Given the description of an element on the screen output the (x, y) to click on. 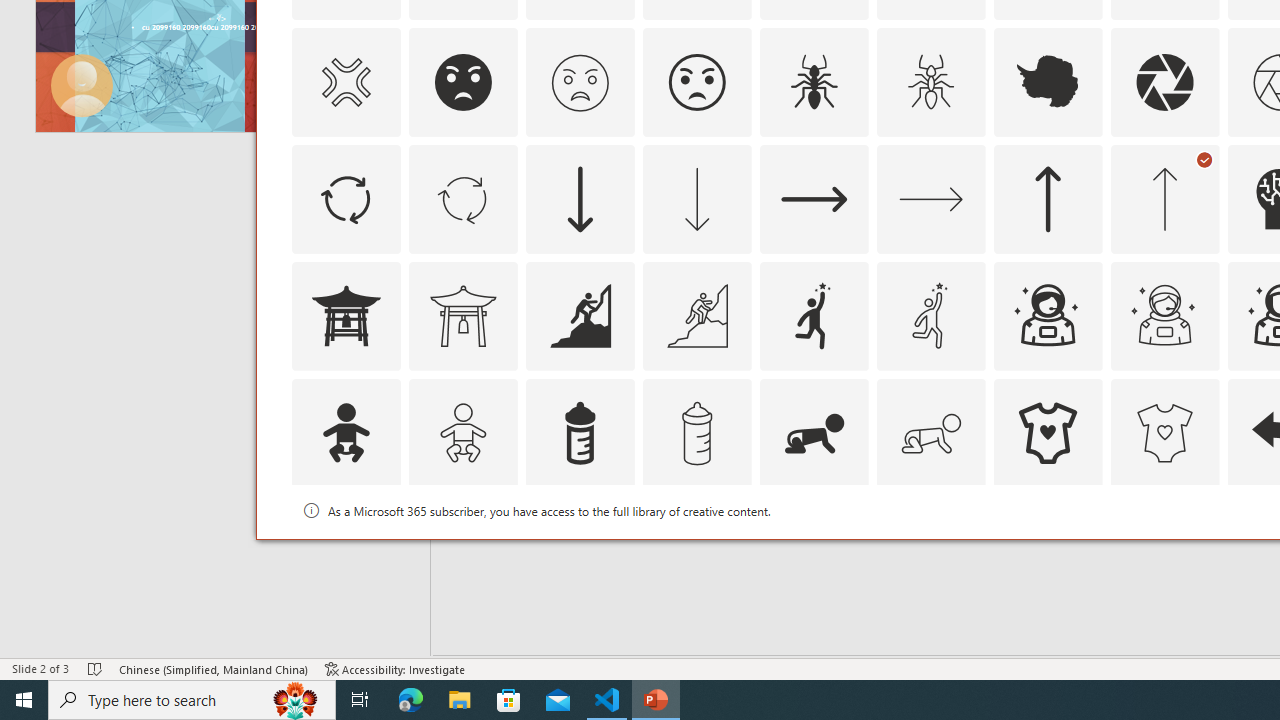
AutomationID: Icons_ArrowCircle (345, 198)
AutomationID: Icons_Badge3_M (813, 550)
AutomationID: Icons_Ant_M (930, 82)
AutomationID: Icons_ArrowRight (813, 198)
AutomationID: Icons_Aspiration (579, 316)
AutomationID: Icons_AngryFace_M (579, 82)
AutomationID: Icons_Badge10_M (345, 550)
AutomationID: Icons_BabyCrawling (813, 432)
